Given the description of an element on the screen output the (x, y) to click on. 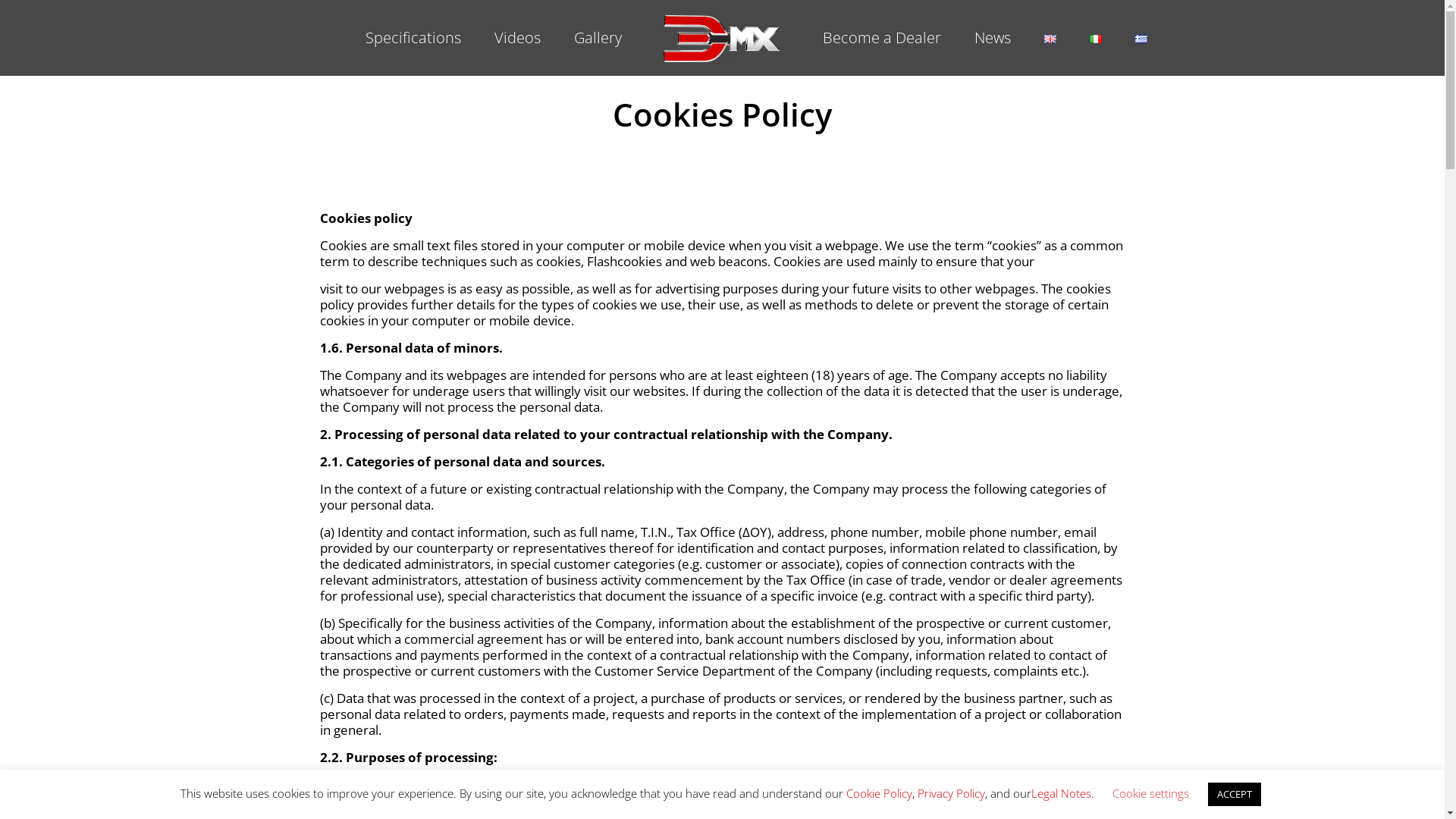
ACCEPT Element type: text (1233, 794)
Videos Element type: text (517, 37)
News Element type: text (992, 37)
Gallery Element type: text (597, 37)
Legal Notes Element type: text (1061, 792)
Specifications Element type: text (413, 37)
Become a Dealer Element type: text (881, 37)
Cookie settings Element type: text (1149, 792)
Cookie Policy Element type: text (879, 792)
3MX - 3-wheel electric commercial vehicle Element type: hover (721, 37)
Privacy Policy Element type: text (951, 792)
